Given the description of an element on the screen output the (x, y) to click on. 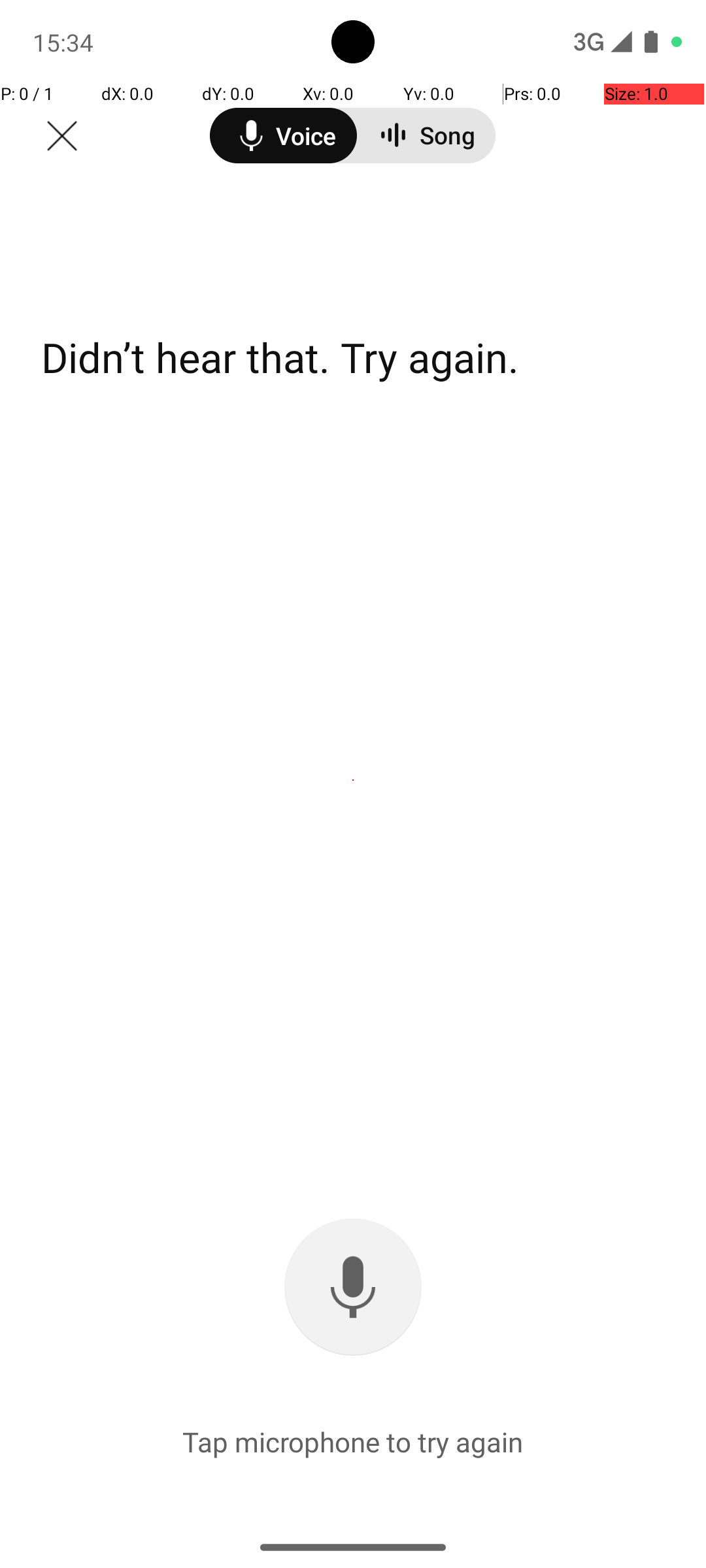
Didn’t hear that. Try again. Element type: android.widget.TextView (280, 356)
Voice Element type: android.widget.TextView (282, 135)
Song Element type: android.widget.TextView (446, 135)
Tap microphone to try again Element type: android.widget.TextView (352, 1441)
Tap to speak button Element type: android.widget.ImageButton (352, 1286)
